Given the description of an element on the screen output the (x, y) to click on. 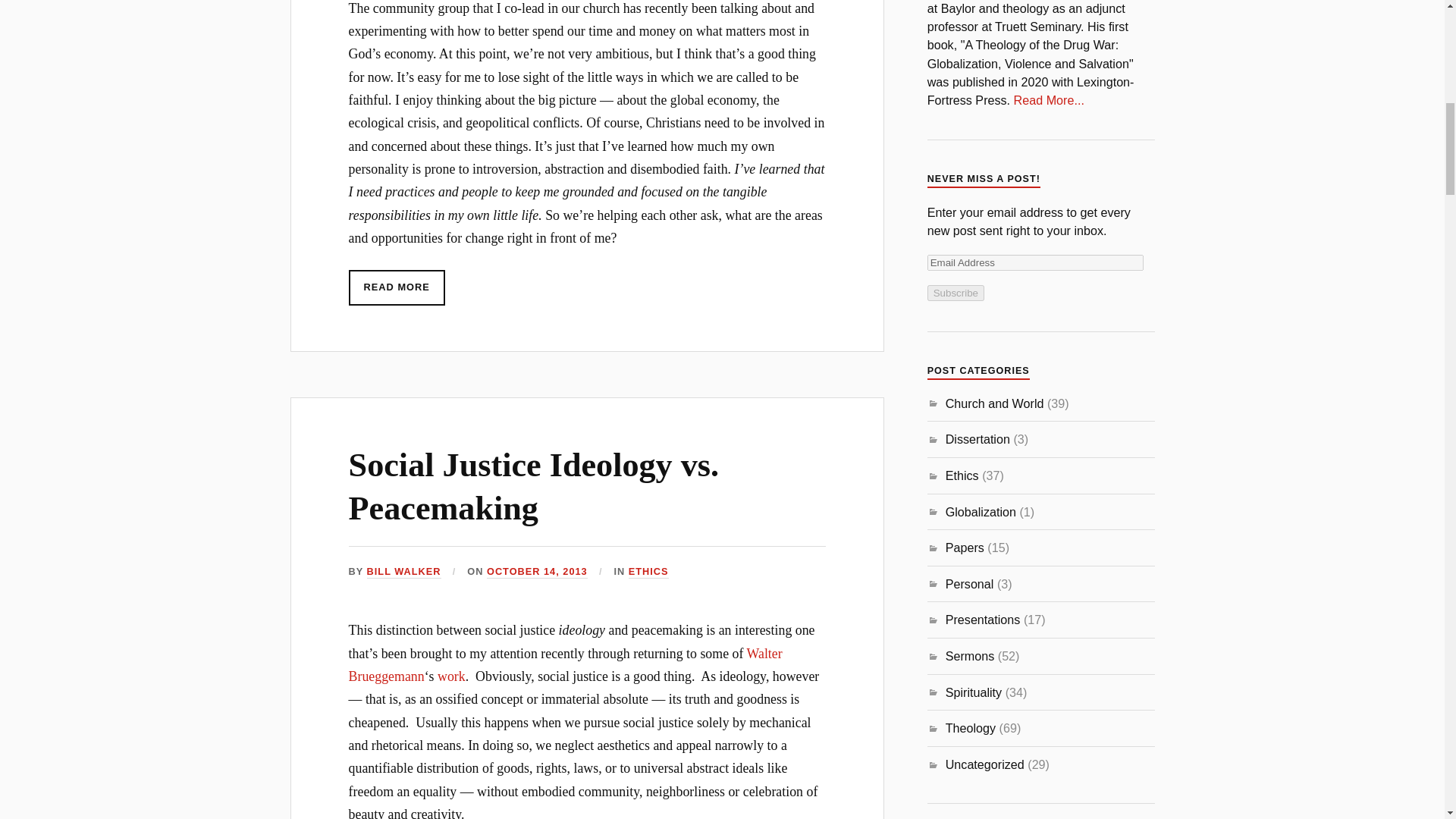
BILL WALKER (403, 571)
Subscribe (955, 293)
READ MORE (397, 287)
ETHICS (648, 571)
Posts by Bill Walker (403, 571)
Walter Brueggemann (566, 664)
Social Justice Ideology vs. Peacemaking (534, 486)
Social Justice Ideology vs. Peacemaking (534, 486)
OCTOBER 14, 2013 (537, 571)
Walter Brueggemann (566, 664)
